Given the description of an element on the screen output the (x, y) to click on. 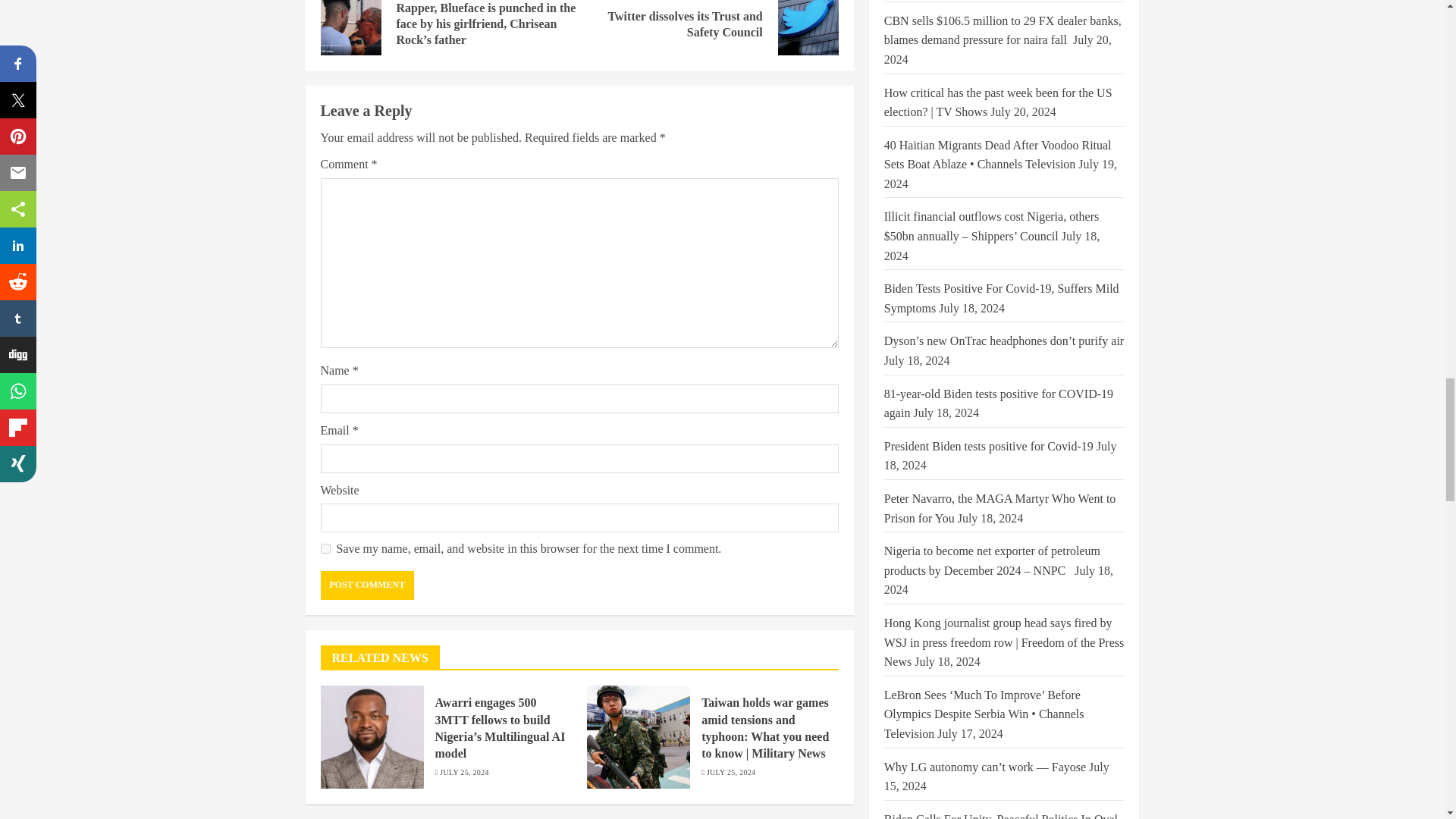
yes (325, 548)
Post Comment (366, 584)
